Given the description of an element on the screen output the (x, y) to click on. 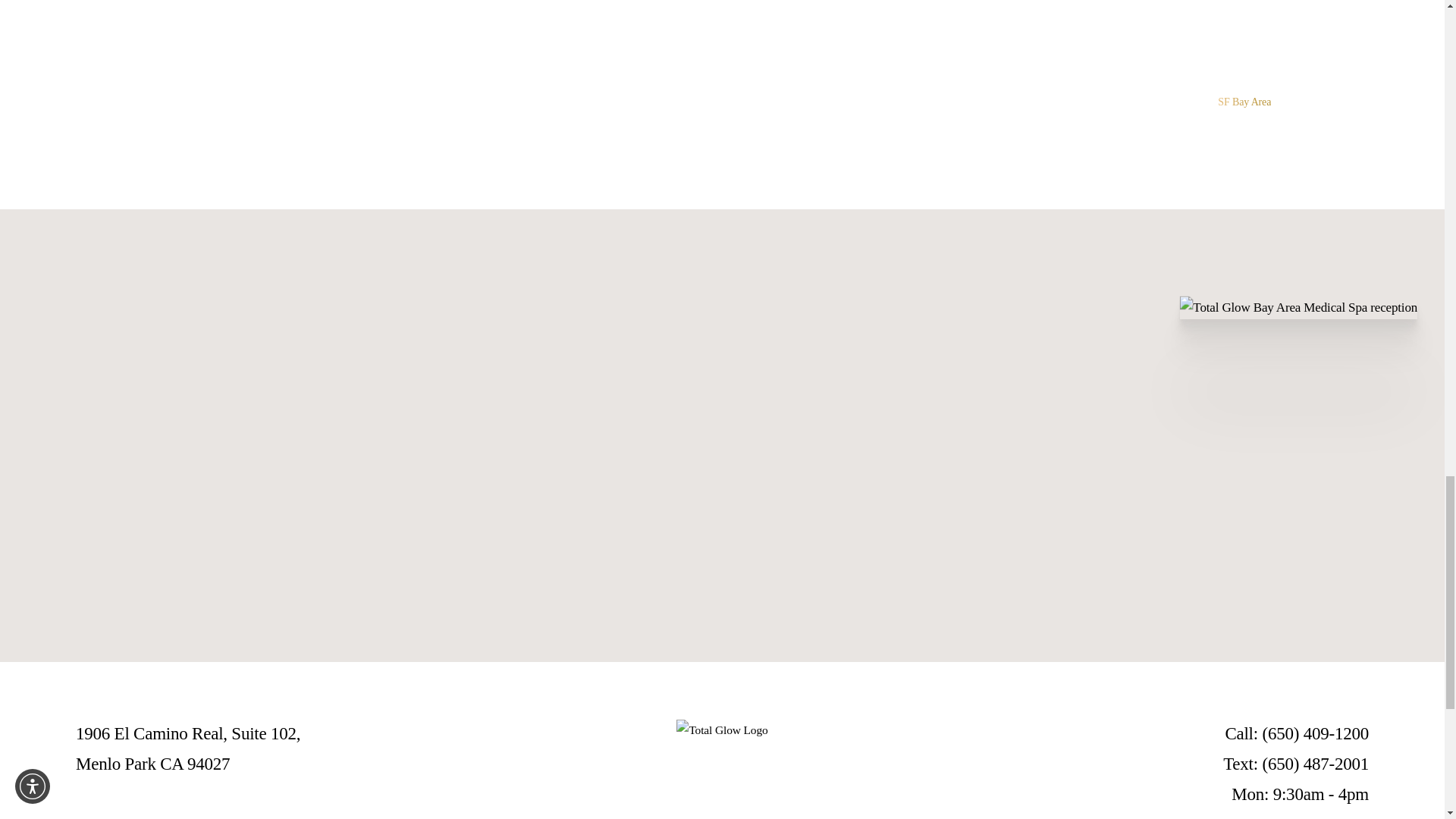
Submit Form (193, 552)
